Given the description of an element on the screen output the (x, y) to click on. 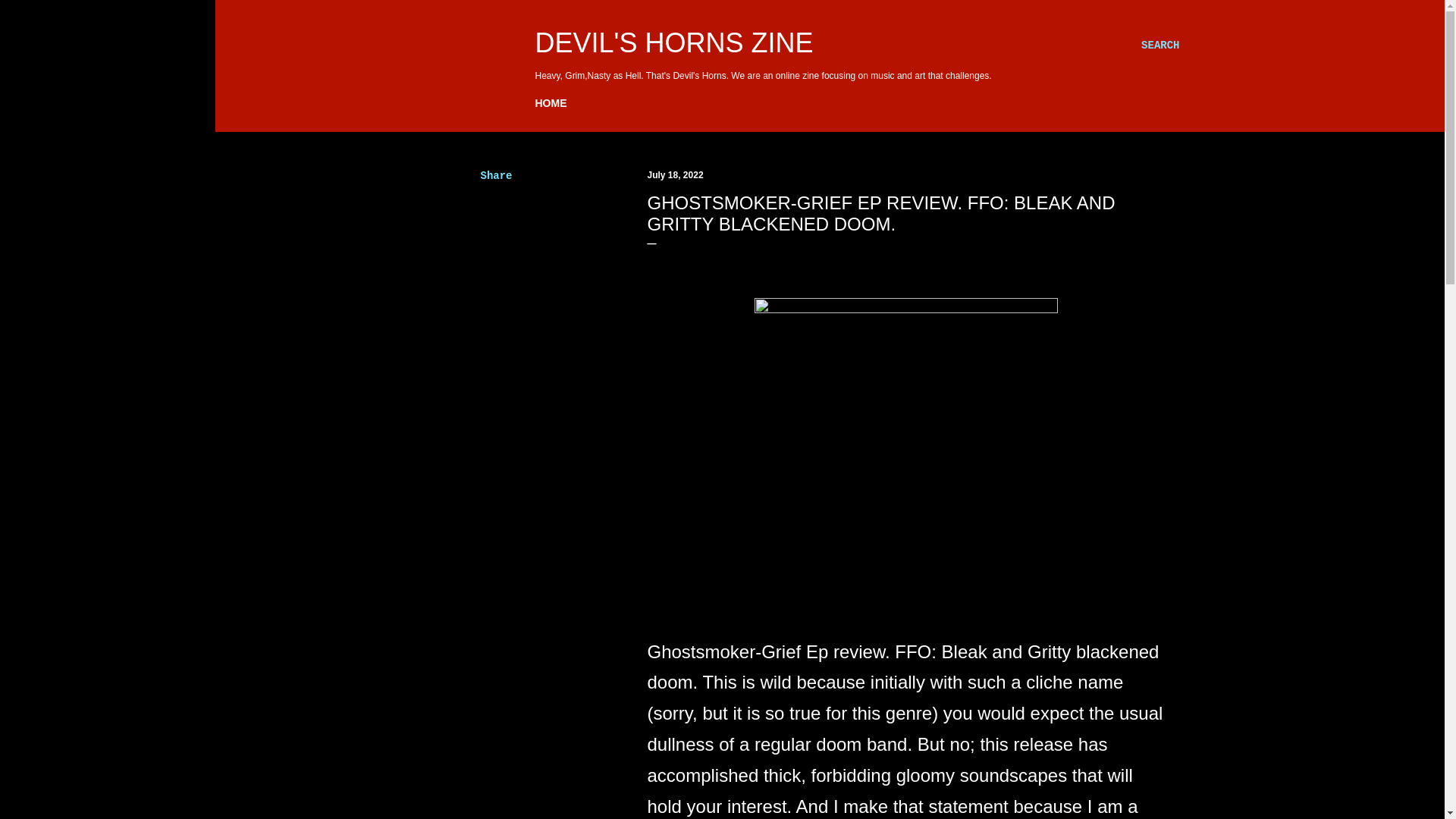
SEARCH (1160, 45)
Share (496, 175)
HOME (551, 102)
July 18, 2022 (675, 174)
DEVIL'S HORNS ZINE (674, 42)
permanent link (675, 174)
